Given the description of an element on the screen output the (x, y) to click on. 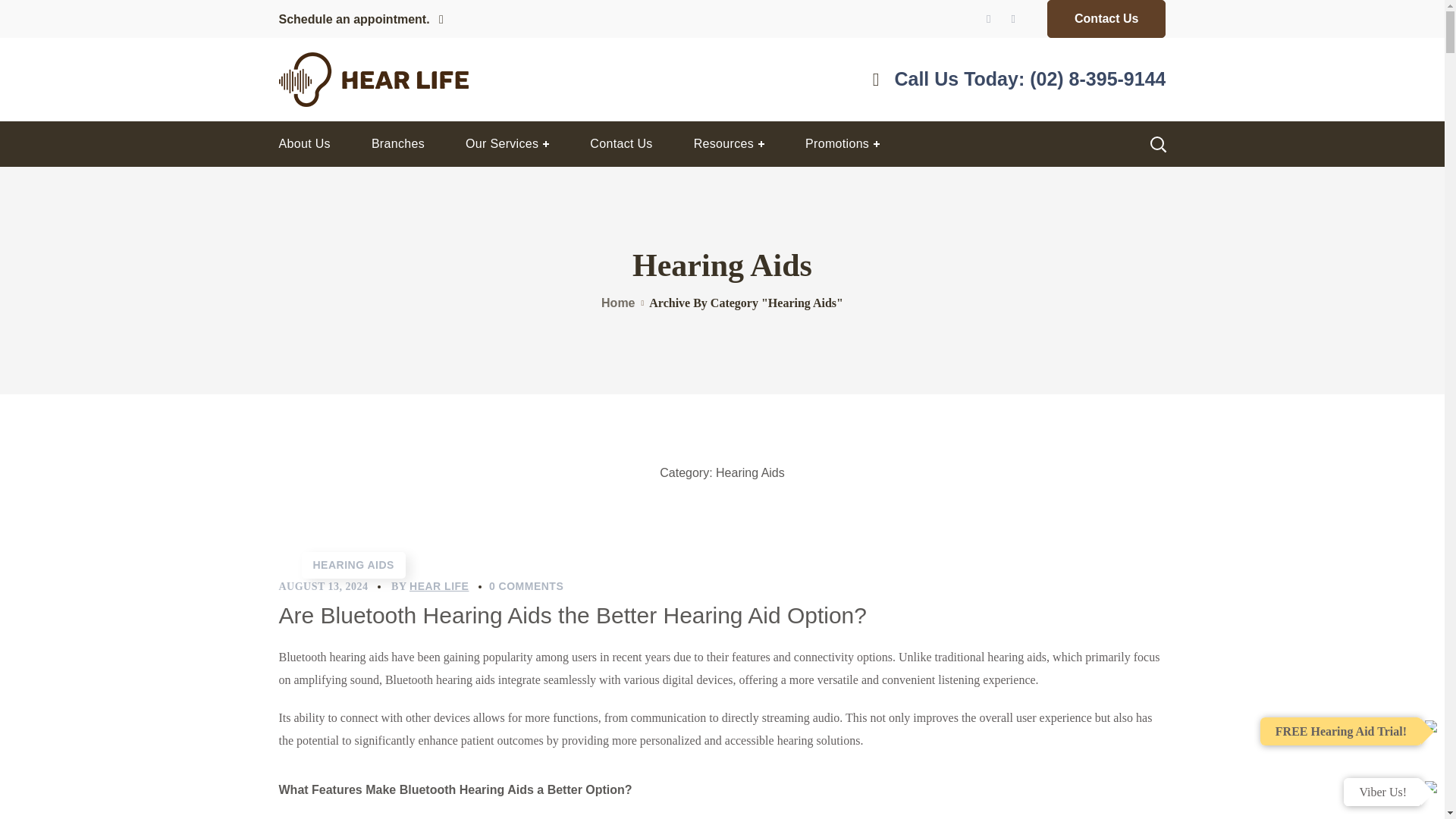
Contact Us (620, 144)
Our Services (507, 144)
Promotions (841, 144)
Resources (728, 144)
About Us (303, 144)
Schedule an appointment. (361, 19)
Search (1118, 204)
Contact Us (1106, 18)
Branches (397, 144)
